Given the description of an element on the screen output the (x, y) to click on. 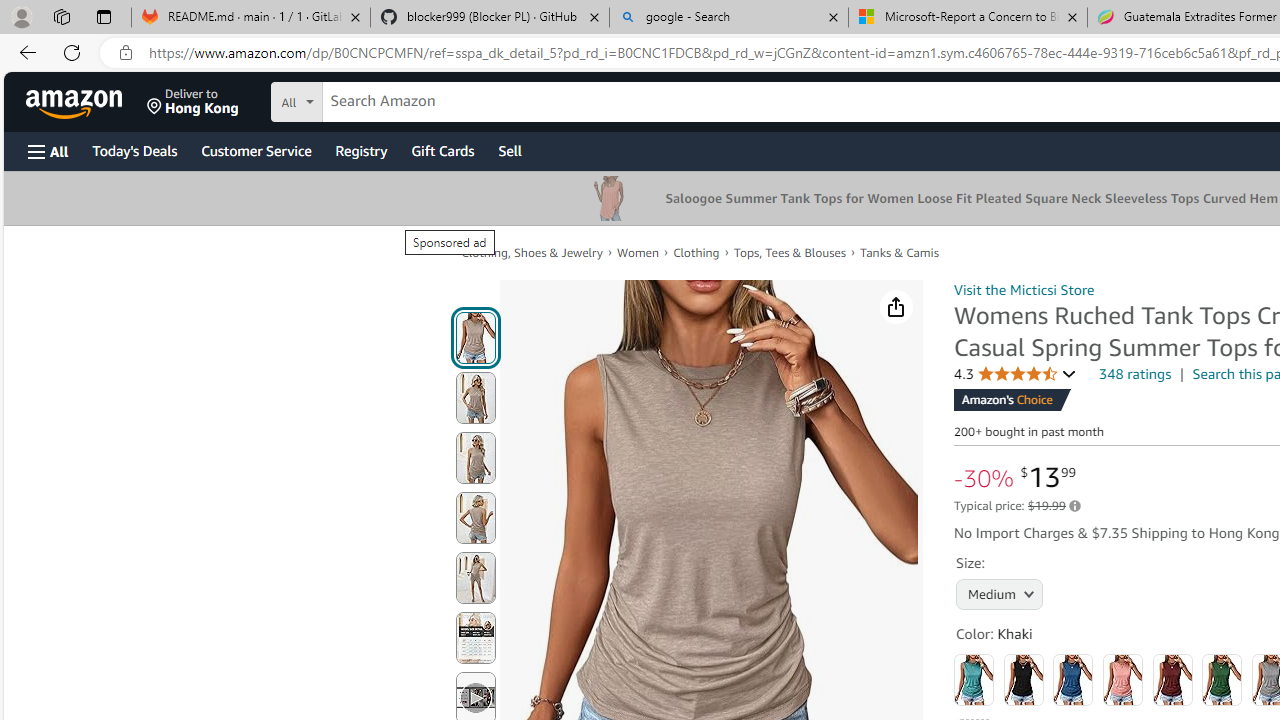
Share (896, 307)
Clothing, Shoes & Jewelry (531, 252)
Tops, Tees & Blouses (789, 252)
Gift Cards (442, 150)
Green (1222, 679)
Blue (1073, 679)
Open Menu (48, 151)
Search in (371, 99)
Tanks & Camis (899, 252)
Today's Deals (134, 150)
Aqua (974, 679)
